Given the description of an element on the screen output the (x, y) to click on. 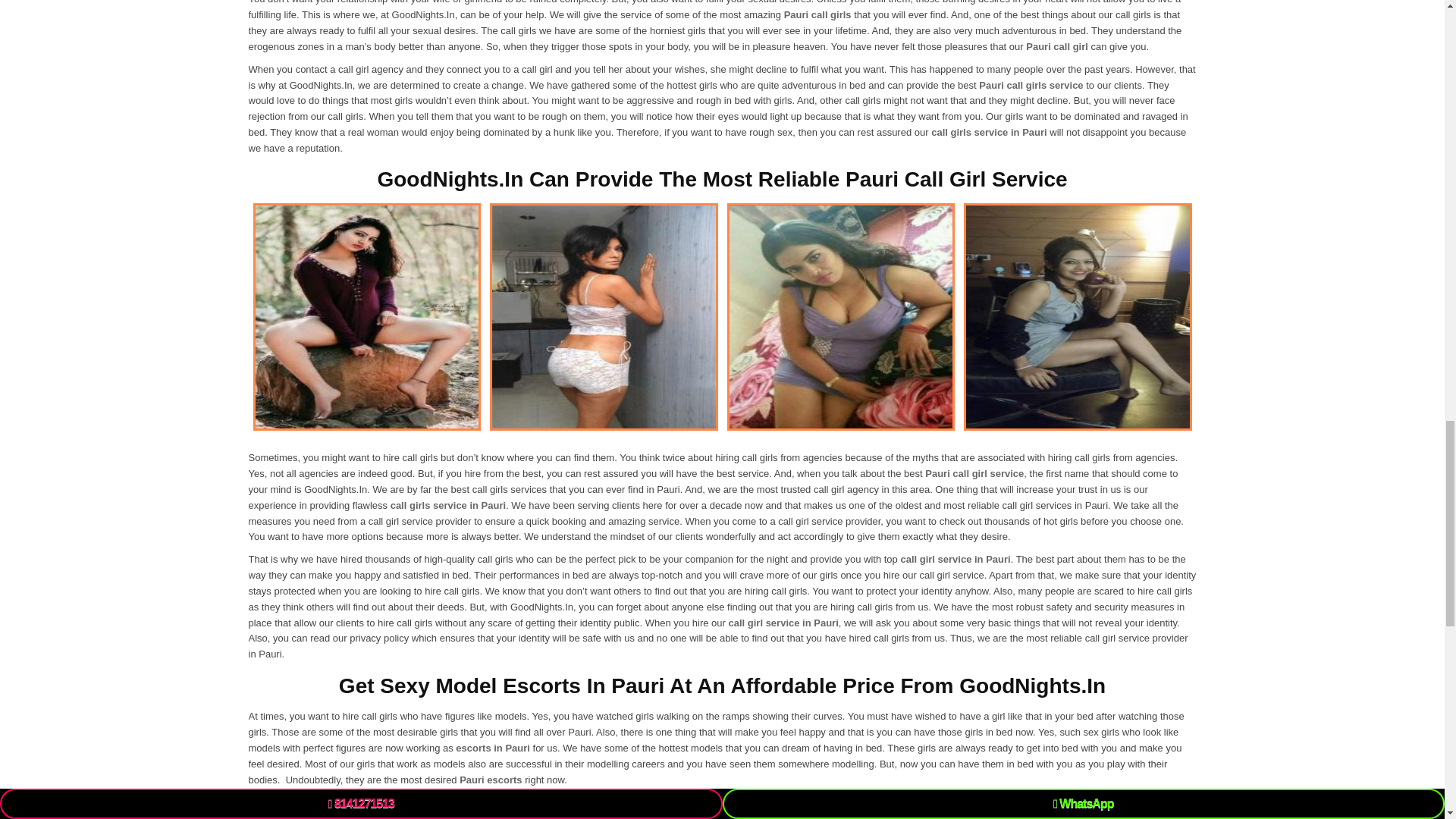
call girl service in Pauri (954, 559)
Pauri call girls (817, 14)
call girls service in Pauri (446, 505)
Pauri escorts (490, 779)
call girls service in Pauri (988, 132)
Pauri call girls service (1030, 84)
escorts in Pauri (492, 747)
Pauri call girl service (973, 473)
Pauri call girl (1056, 46)
call girl service in Pauri (783, 622)
